Given the description of an element on the screen output the (x, y) to click on. 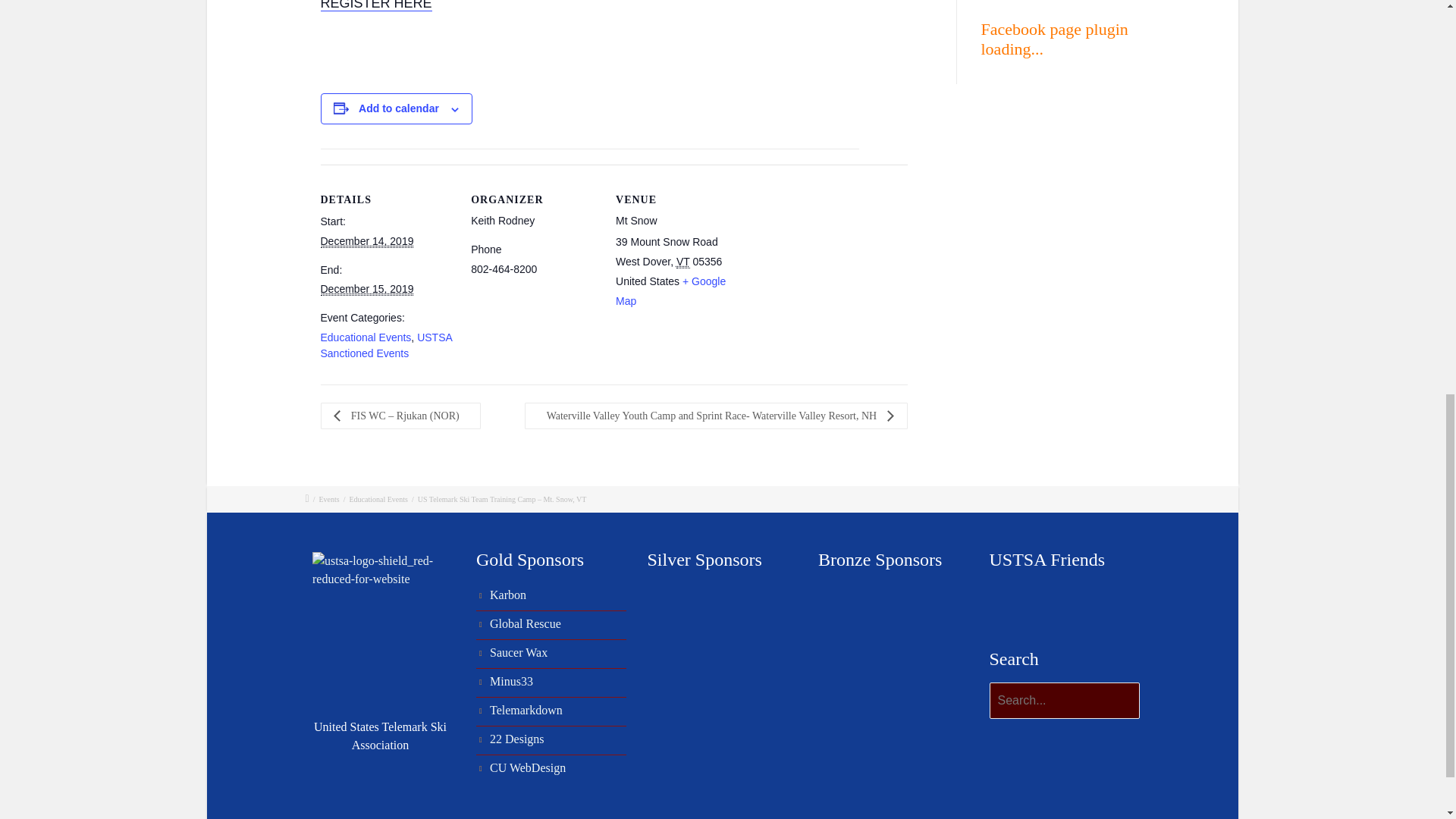
2019-12-15 (366, 288)
Vermont (683, 261)
2019-12-14 (366, 241)
Click to view a Google Map (670, 291)
